Given the description of an element on the screen output the (x, y) to click on. 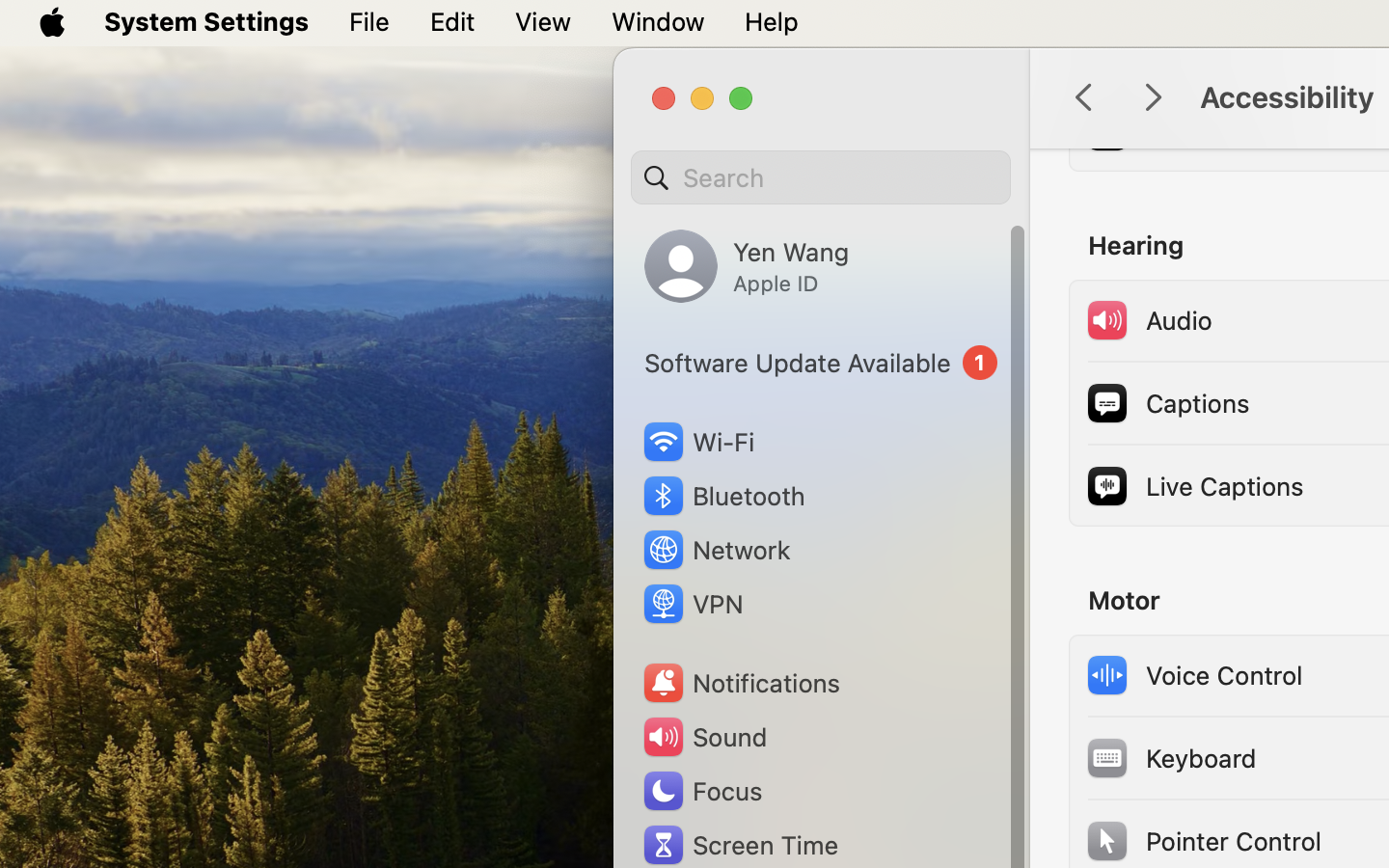
Sound Element type: AXStaticText (703, 736)
VPN Element type: AXStaticText (691, 603)
Yen Wang, Apple ID Element type: AXStaticText (746, 265)
Focus Element type: AXStaticText (701, 790)
Wi‑Fi Element type: AXStaticText (697, 441)
